Given the description of an element on the screen output the (x, y) to click on. 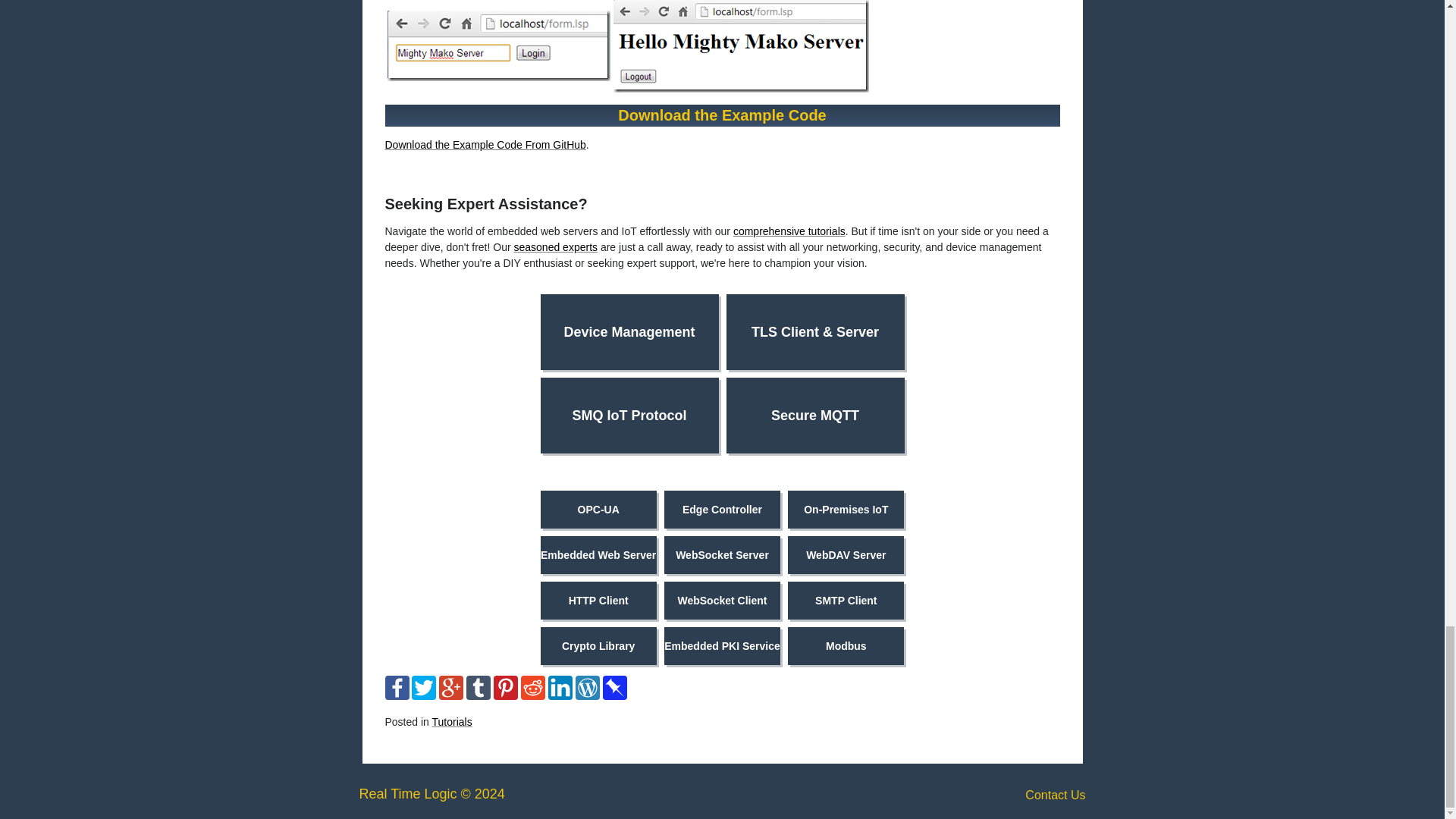
image (498, 45)
Share on LinkedIn (560, 695)
Tweet (423, 695)
Save to Pinboard (614, 695)
Submit to Reddit (532, 695)
Device Management (628, 332)
image (739, 46)
Publish on WordPress (587, 695)
Edge Controller (721, 509)
OPC-UA (598, 509)
